Given the description of an element on the screen output the (x, y) to click on. 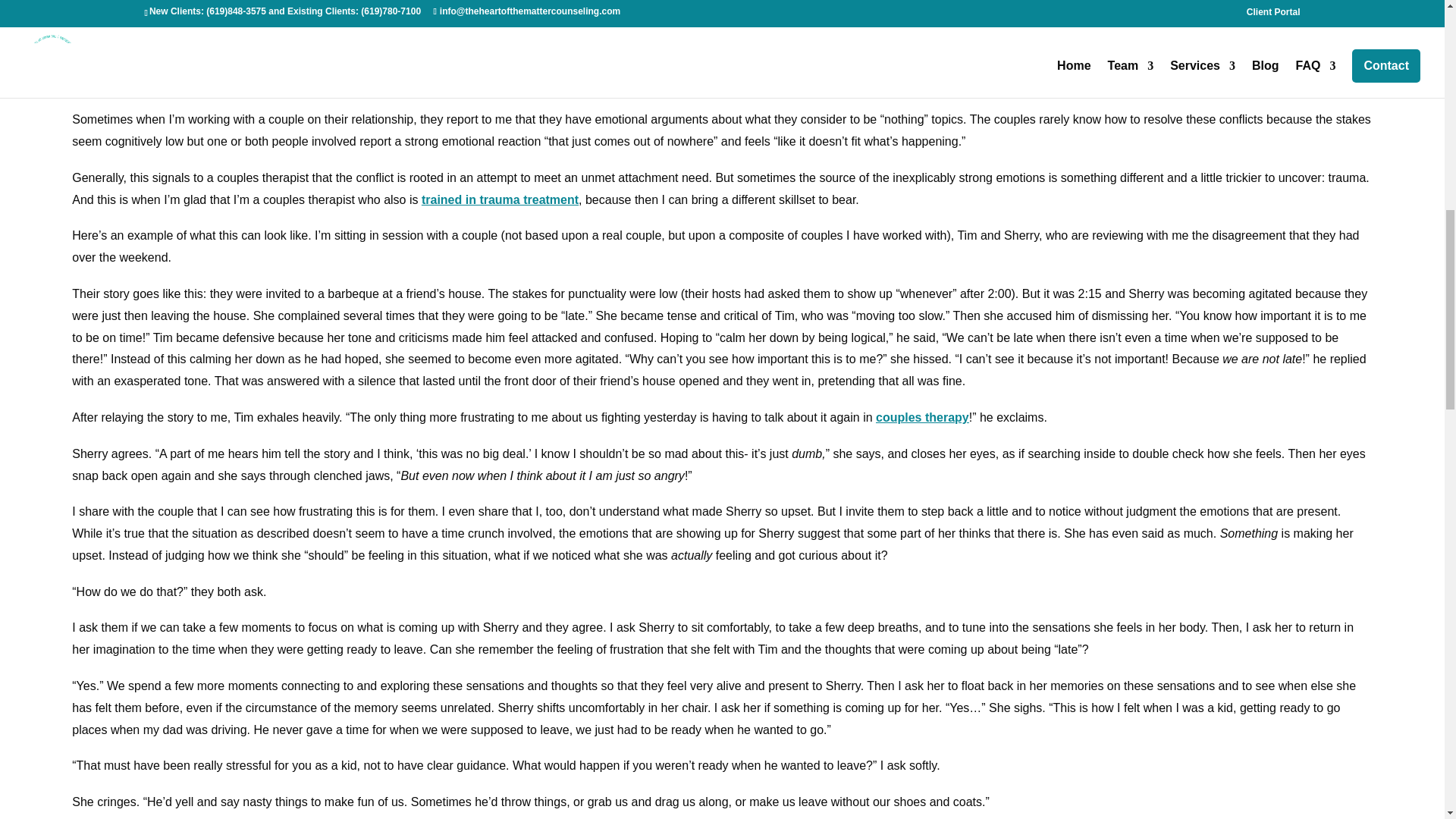
Big-Emotional-Responses-in-Relationships- (722, 22)
trained in trauma treatment (500, 199)
couples therapy (922, 417)
